Given the description of an element on the screen output the (x, y) to click on. 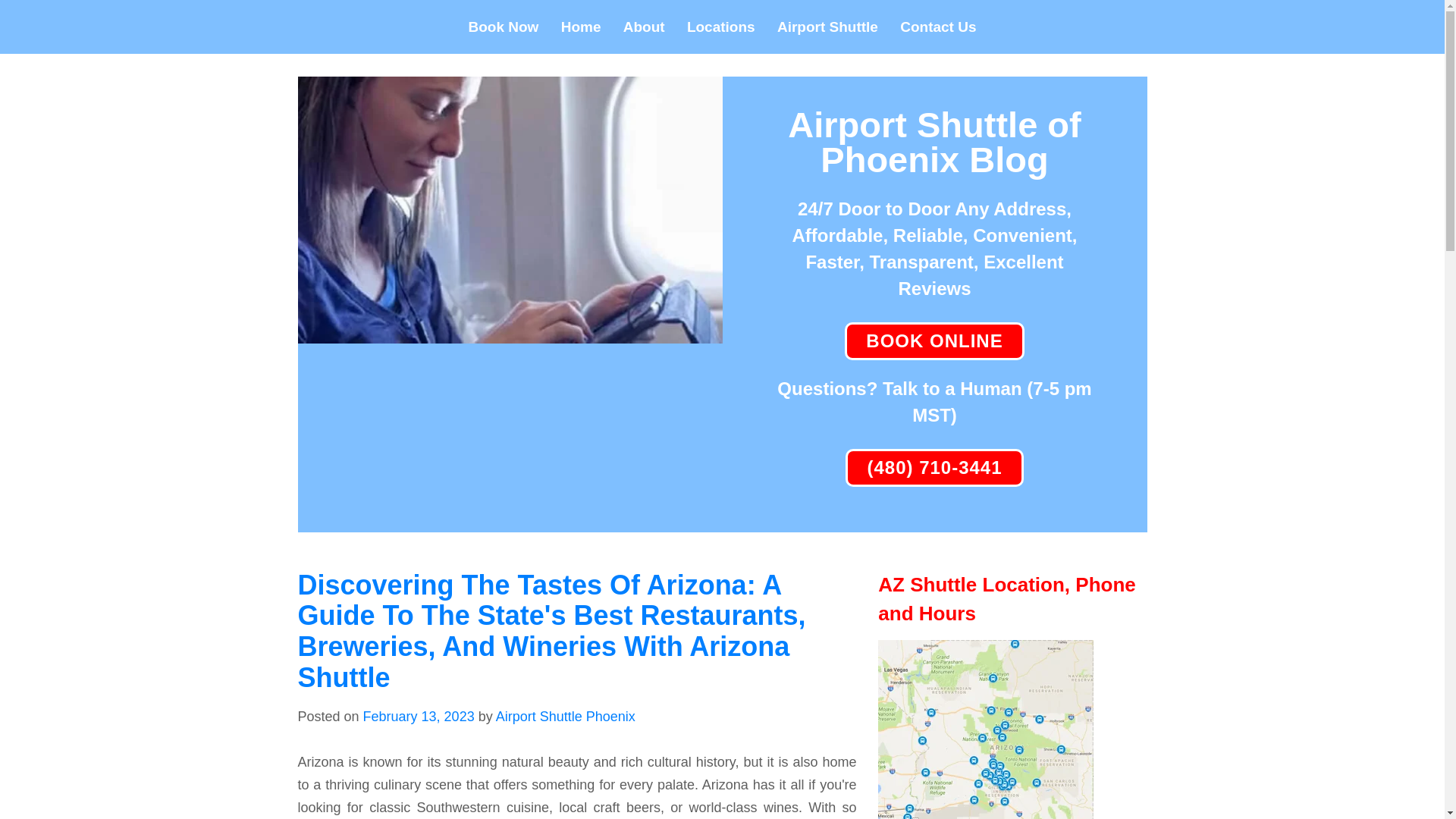
Airport Shuttle Phoenix (565, 715)
BOOK ONLINE (933, 340)
Contact Us (937, 27)
February 13, 2023 (418, 715)
About (643, 27)
Home (580, 27)
Book Airport Shuttle Online (933, 340)
Article Date (418, 715)
Airport Shuttle (827, 27)
Locations (721, 27)
